Given the description of an element on the screen output the (x, y) to click on. 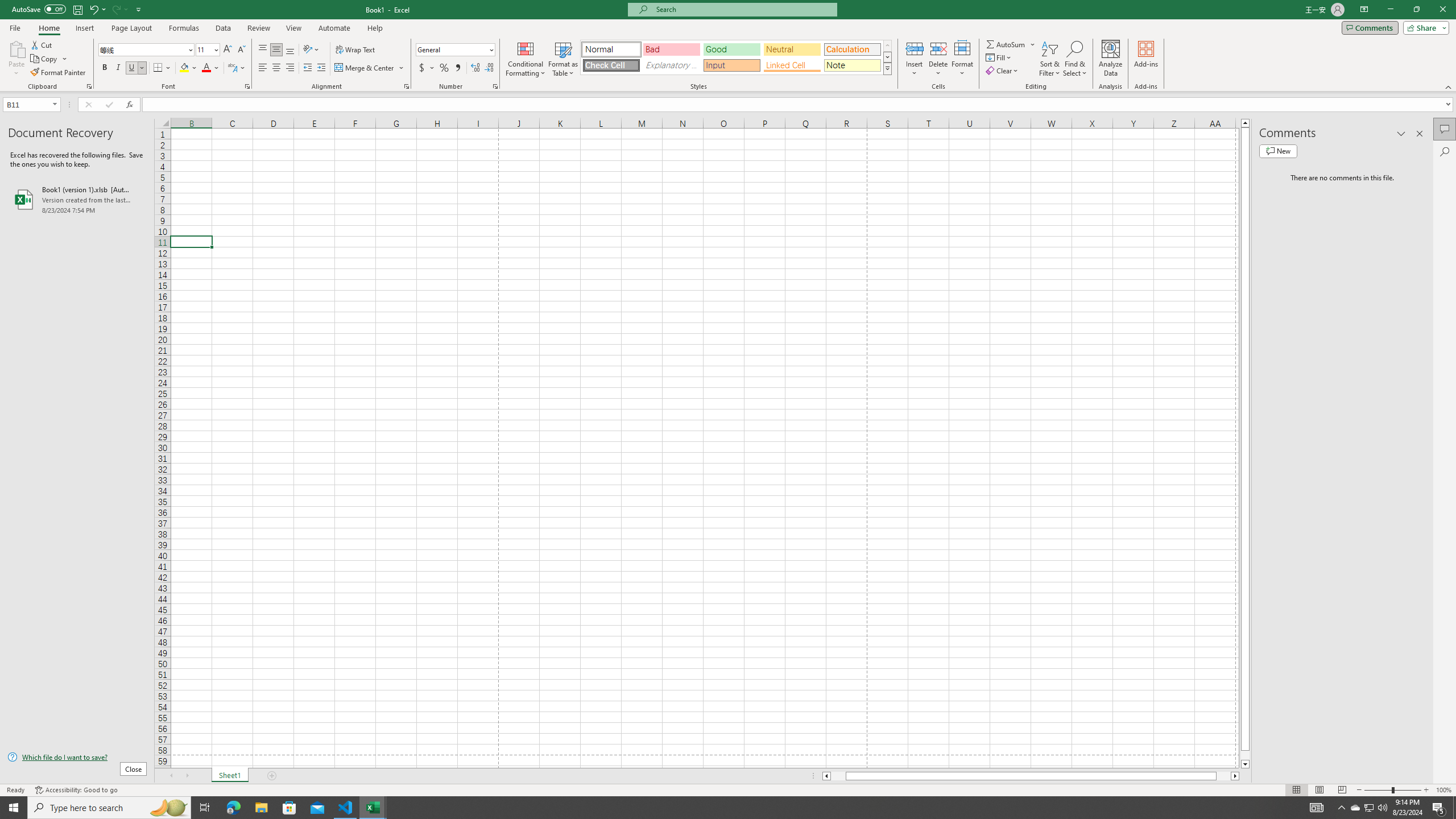
Font Color (210, 67)
Bottom Border (157, 67)
Merge & Center (369, 67)
AutoSum (1011, 44)
Top Align (262, 49)
Underline (131, 67)
Increase Decimal (474, 67)
Format Cell Alignment (405, 85)
